Given the description of an element on the screen output the (x, y) to click on. 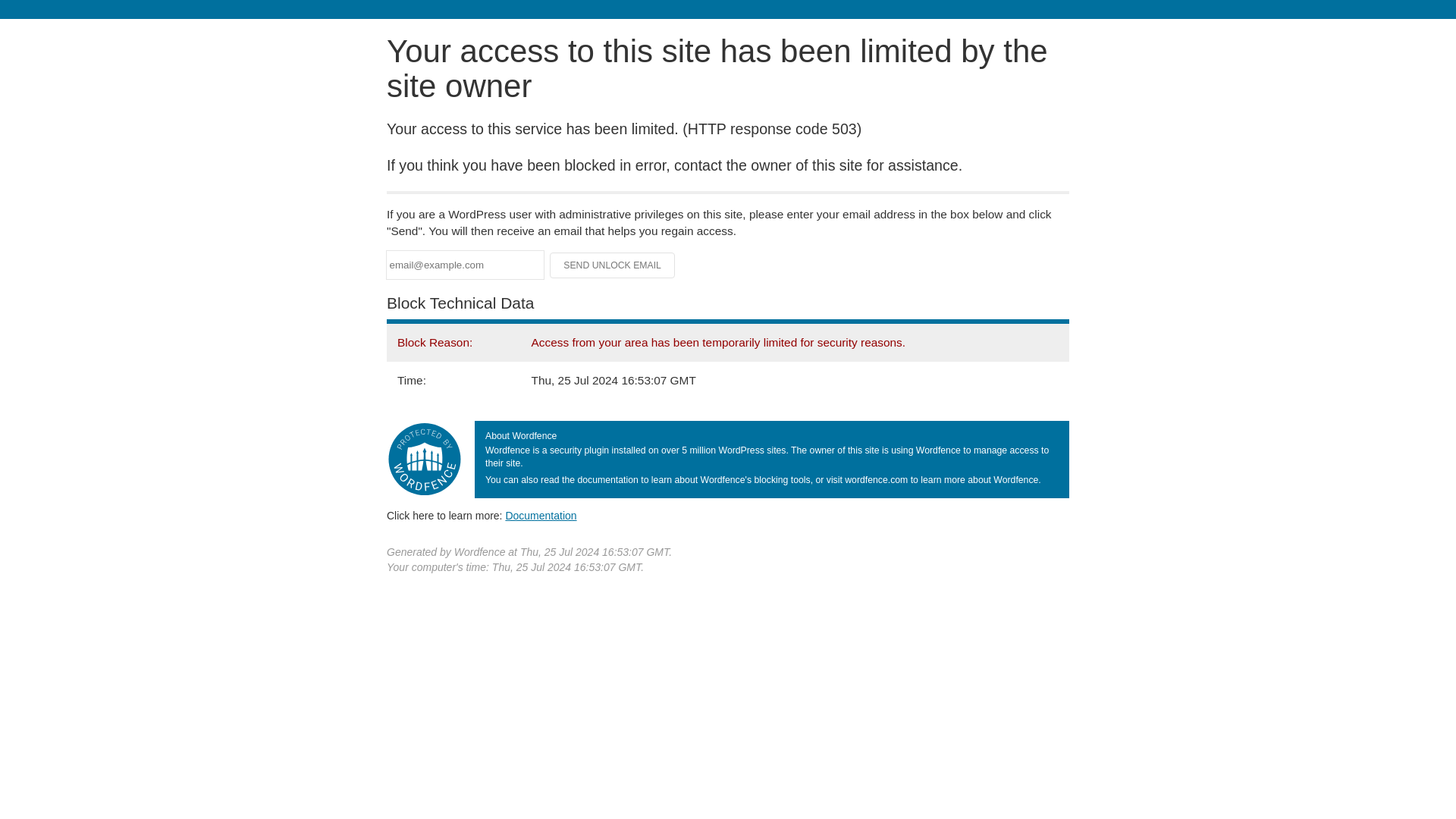
Send Unlock Email (612, 265)
Documentation (540, 515)
Send Unlock Email (612, 265)
